Given the description of an element on the screen output the (x, y) to click on. 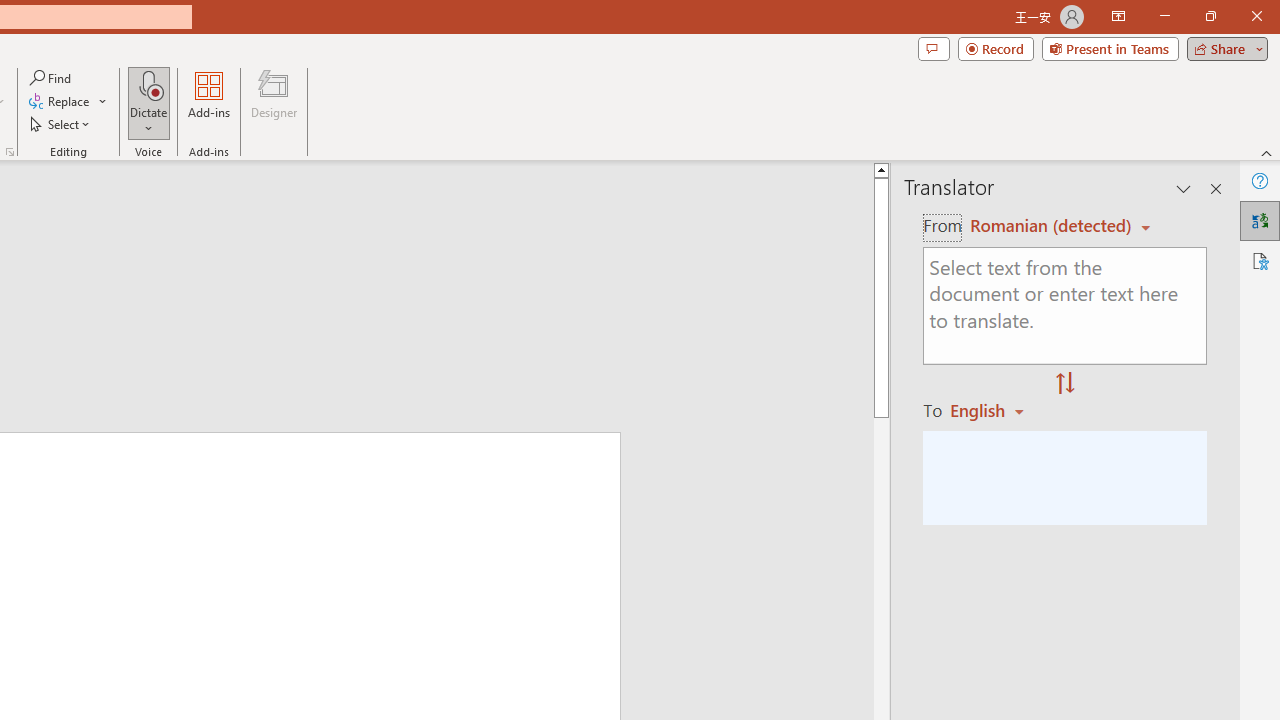
Romanian (994, 409)
Romanian (detected) (1047, 225)
